Given the description of an element on the screen output the (x, y) to click on. 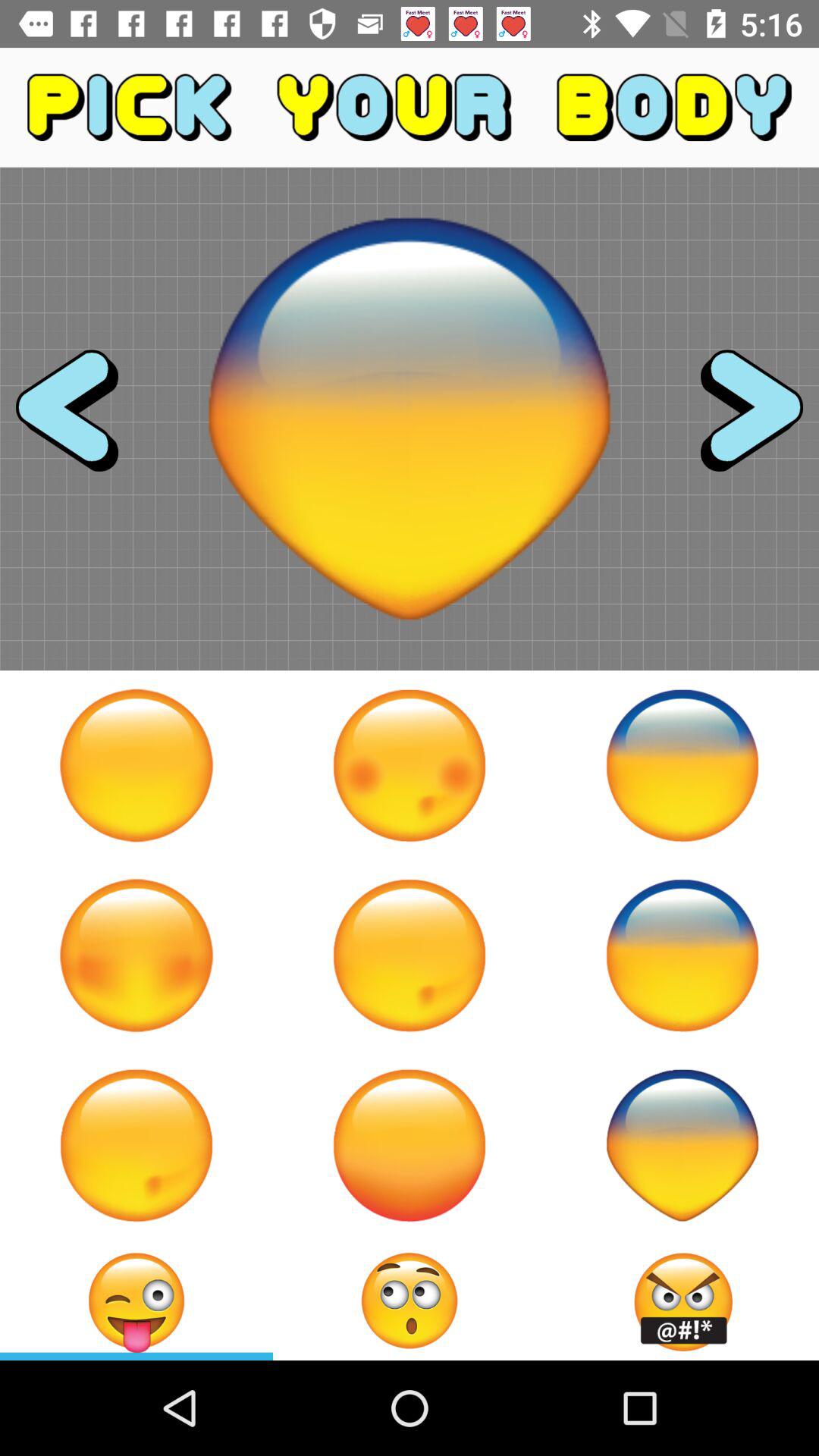
select face (409, 1145)
